Given the description of an element on the screen output the (x, y) to click on. 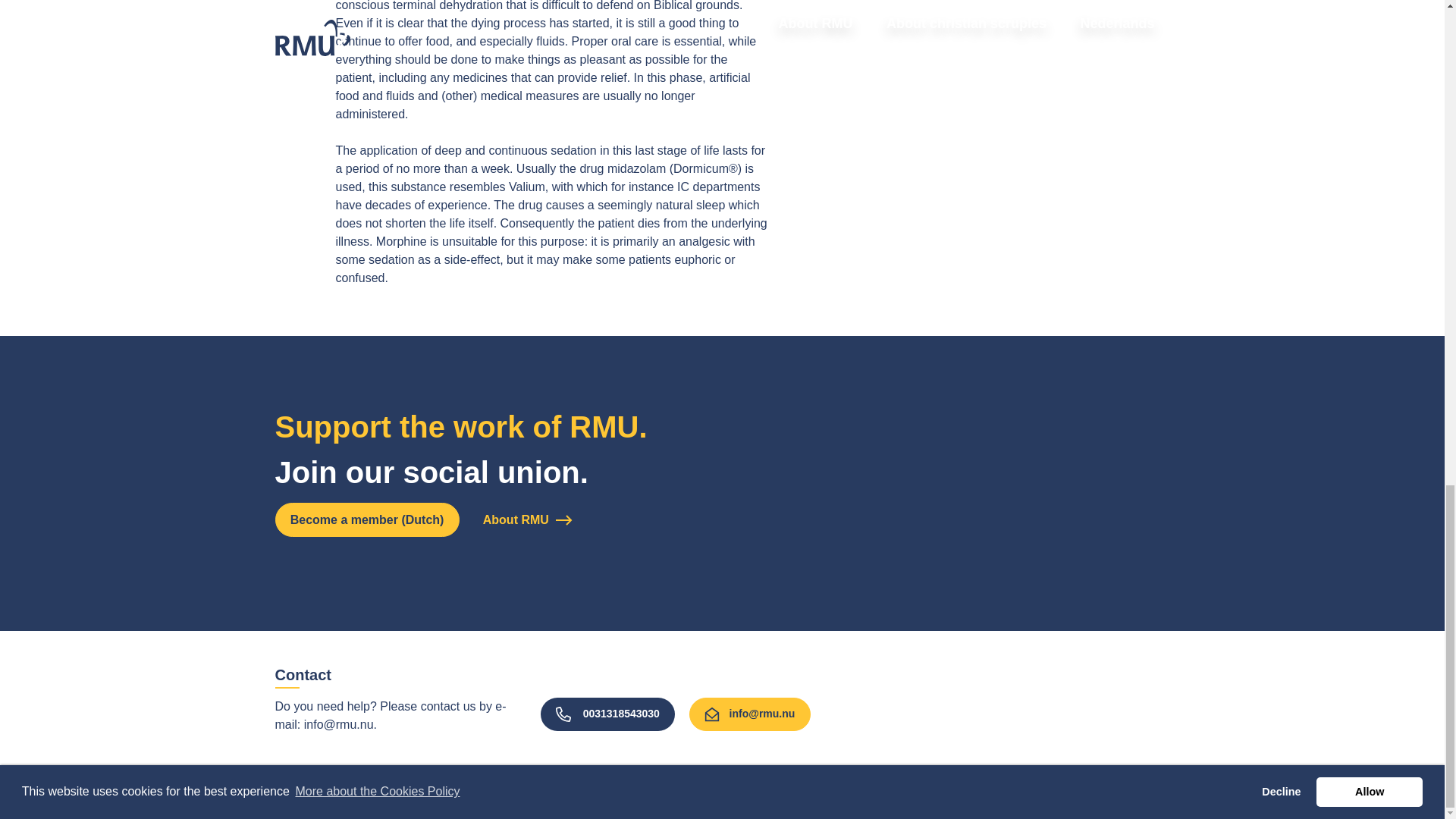
0031318543030 (607, 714)
Algemene voorwaarden (584, 801)
Cookiebeleid (366, 801)
Privacy statement (463, 801)
WebNL (1133, 803)
Privacy statement (463, 801)
Sitemap (294, 801)
Cookiebeleid (366, 801)
Sitemap (294, 801)
About RMU (528, 519)
Algemene voorwaarden (584, 801)
